Given the description of an element on the screen output the (x, y) to click on. 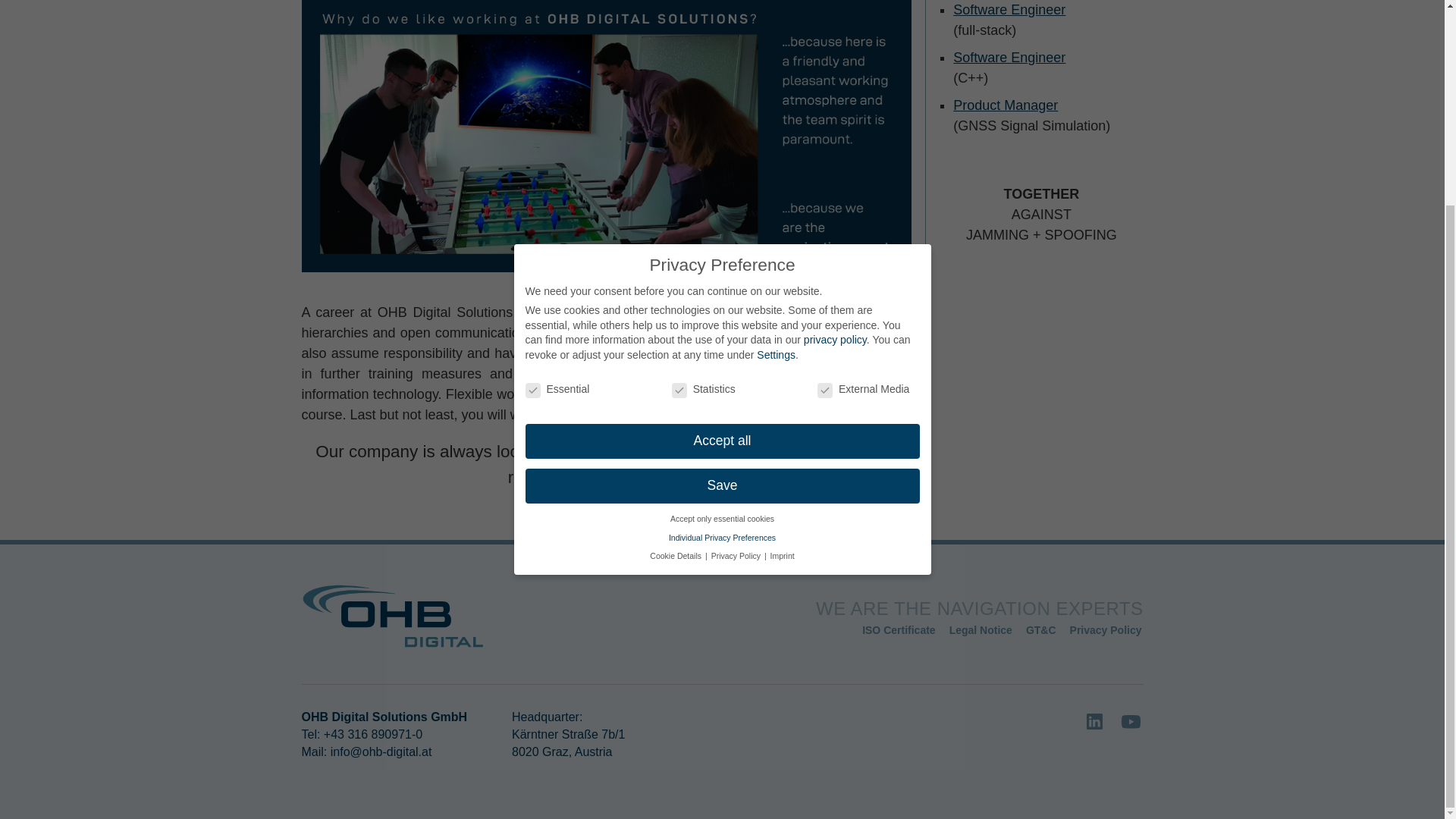
ISO Certificate (897, 630)
Privacy Policy (1105, 630)
Legal Notice (980, 630)
Product Manager (1005, 105)
Software Engineer (1009, 9)
Software Engineer (1009, 57)
